Given the description of an element on the screen output the (x, y) to click on. 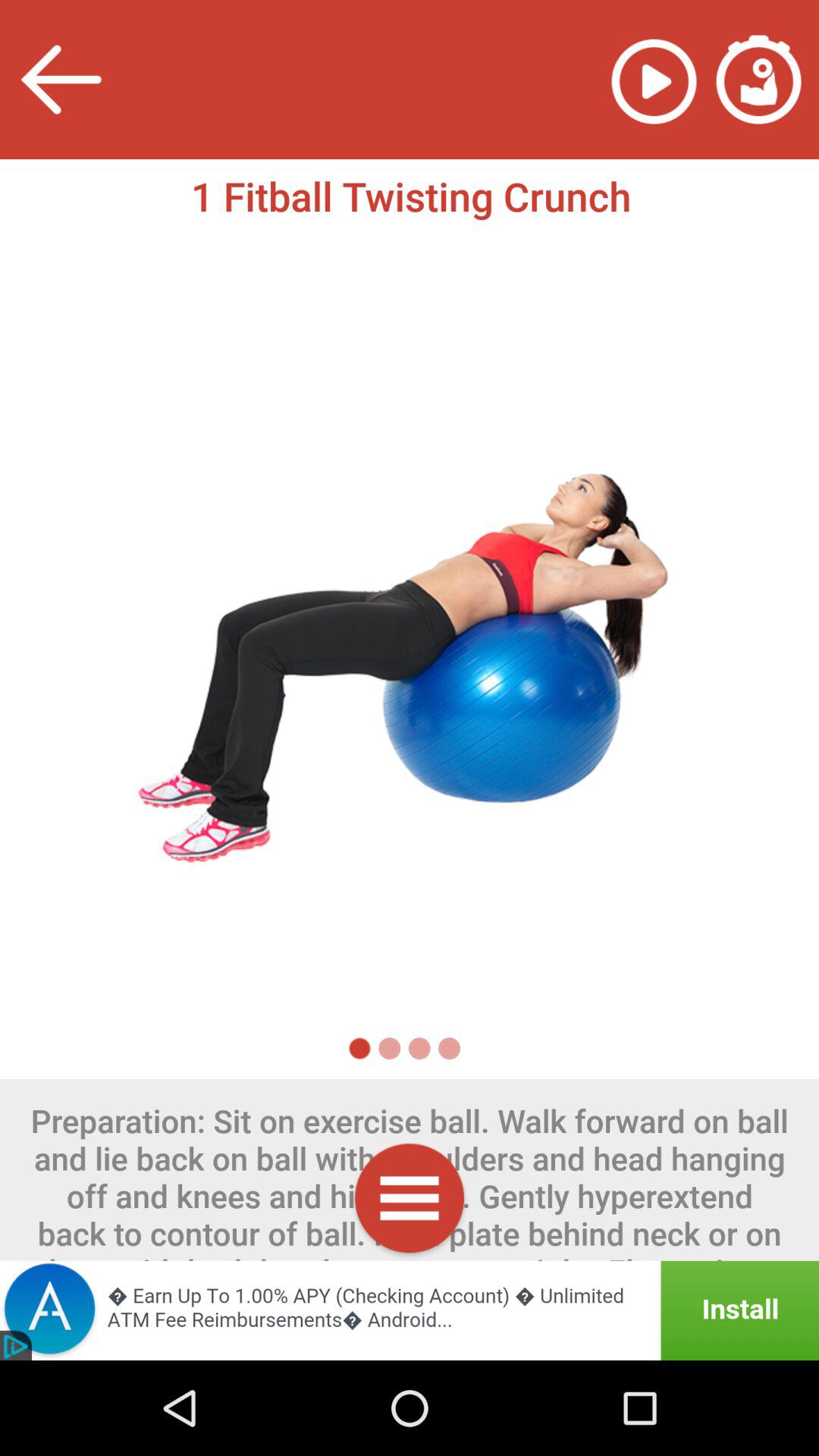
go back (59, 79)
